Given the description of an element on the screen output the (x, y) to click on. 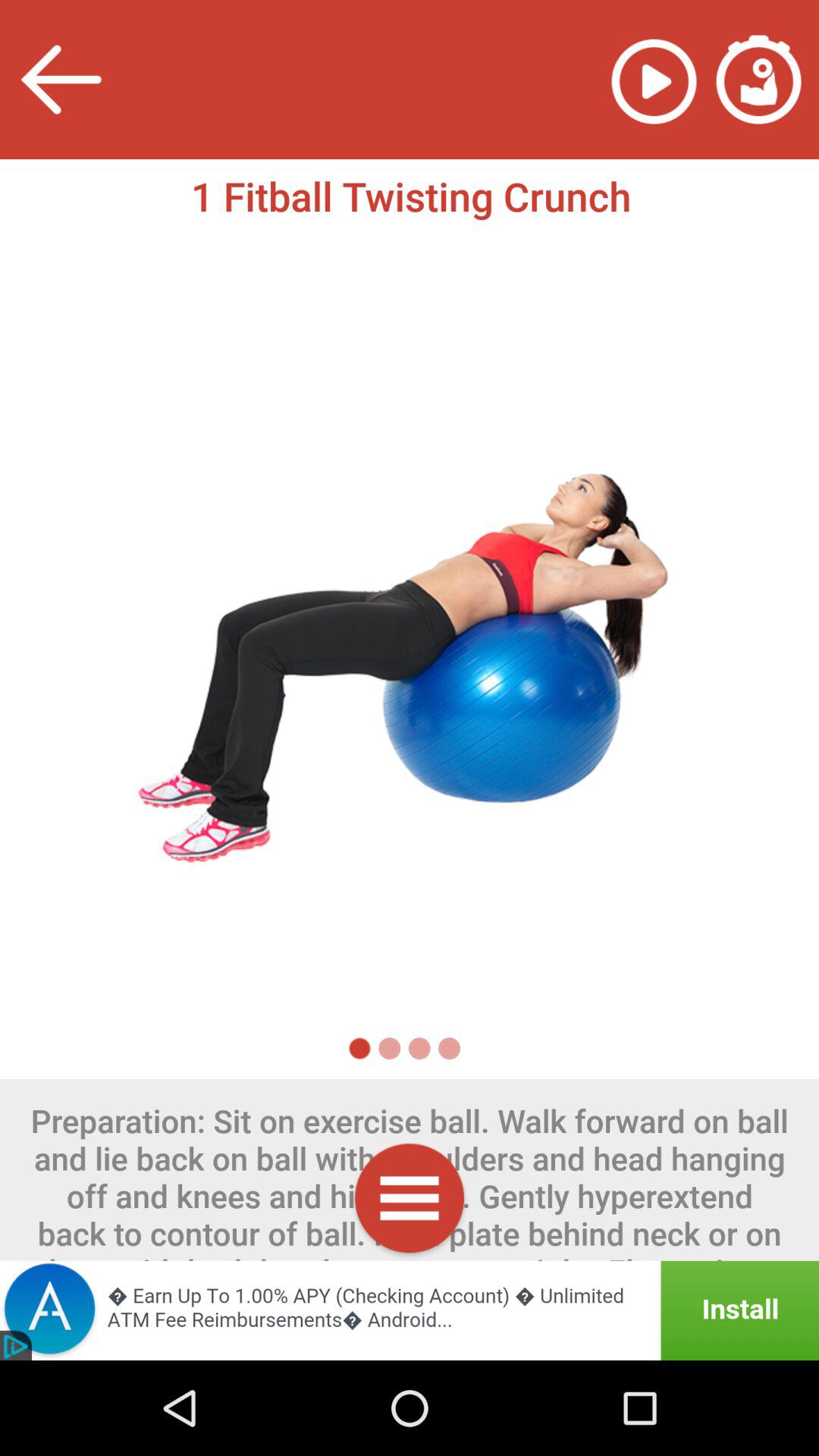
go back (59, 79)
